Given the description of an element on the screen output the (x, y) to click on. 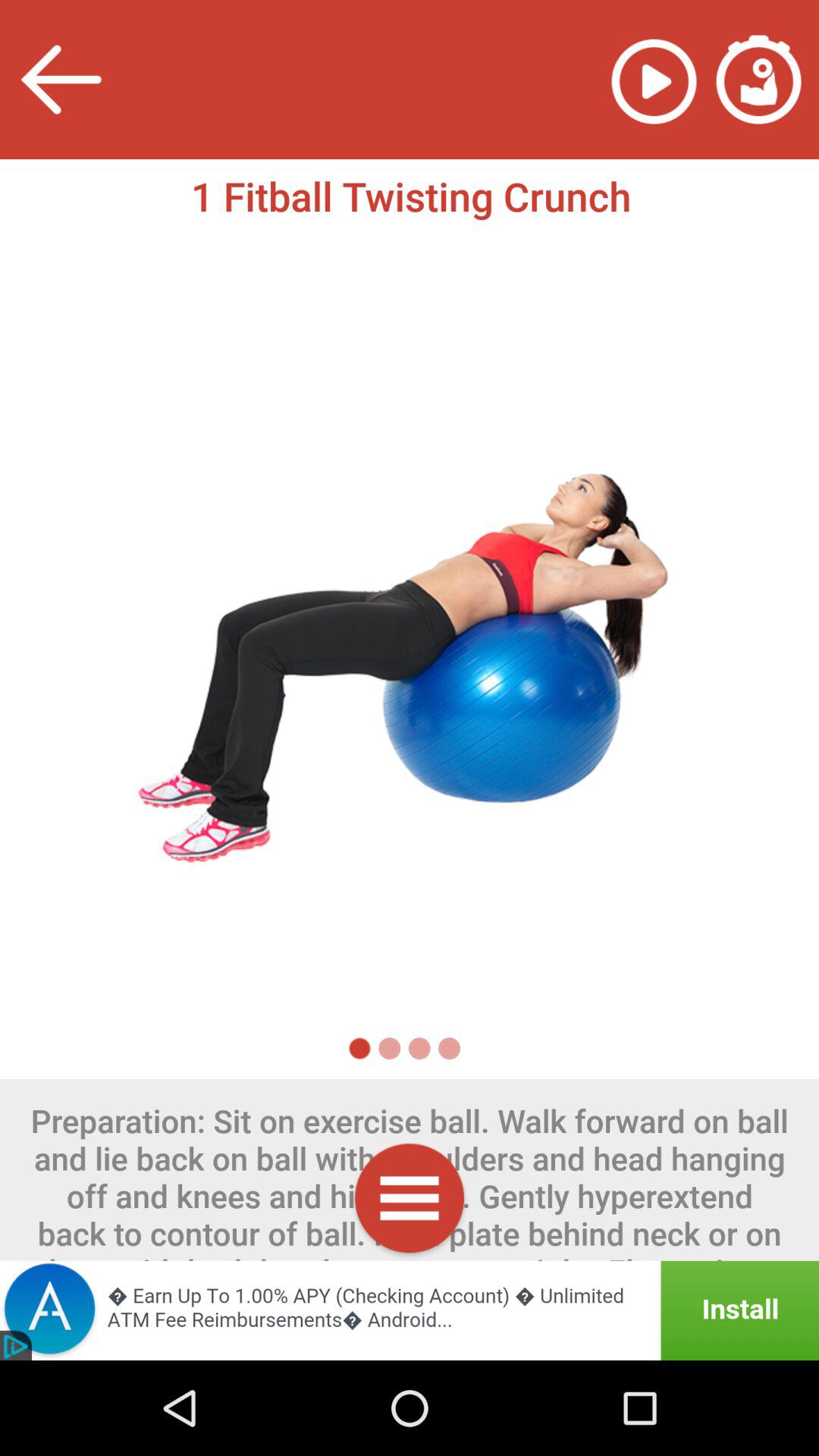
go back (59, 79)
